Given the description of an element on the screen output the (x, y) to click on. 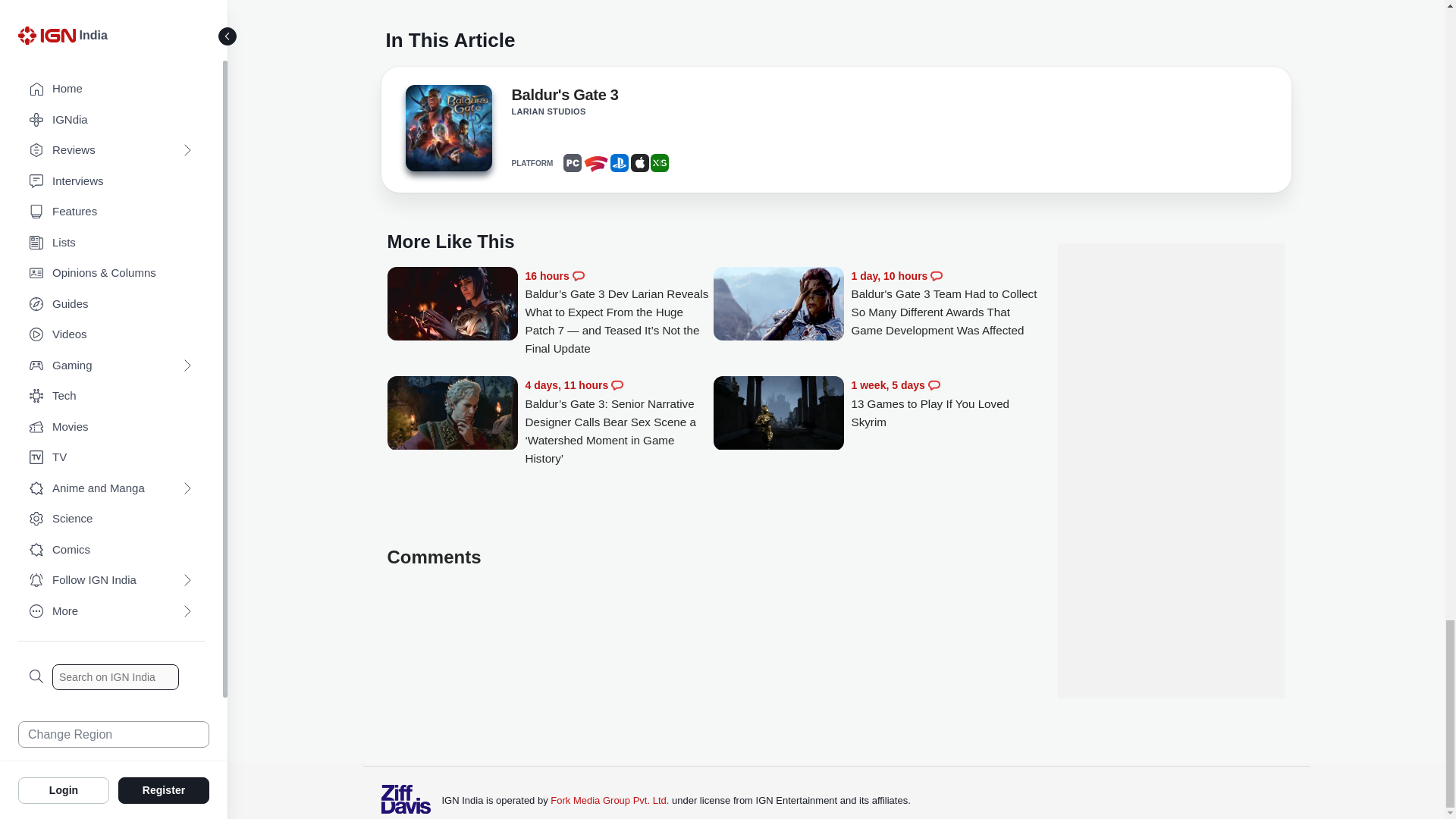
13 Games to Play If You Loved Skyrim (944, 403)
Baldur's Gate 3 (564, 97)
Baldur's Gate 3 (448, 128)
13 Games to Play If You Loved Skyrim (778, 413)
Baldur's Gate 3 (448, 132)
